Given the description of an element on the screen output the (x, y) to click on. 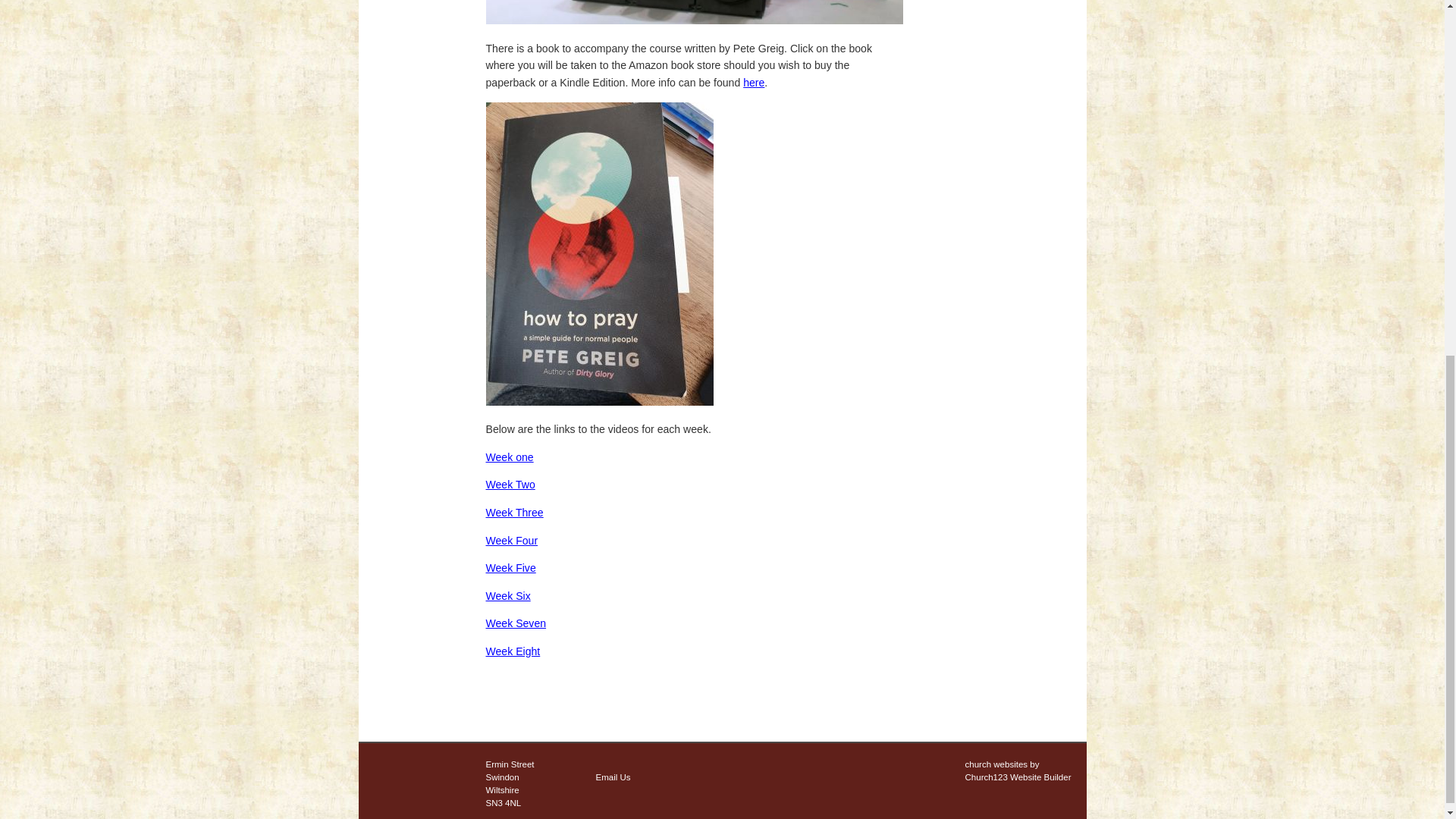
Week Two (509, 484)
Prayer (693, 12)
here (753, 82)
Email Us (612, 777)
church websites by Church123 Website Builder (1016, 771)
Week one (508, 457)
Week Eight (512, 651)
Week Five (509, 567)
Week Three (513, 512)
Week Seven (515, 623)
Week Four (510, 540)
Week Six (506, 595)
